Given the description of an element on the screen output the (x, y) to click on. 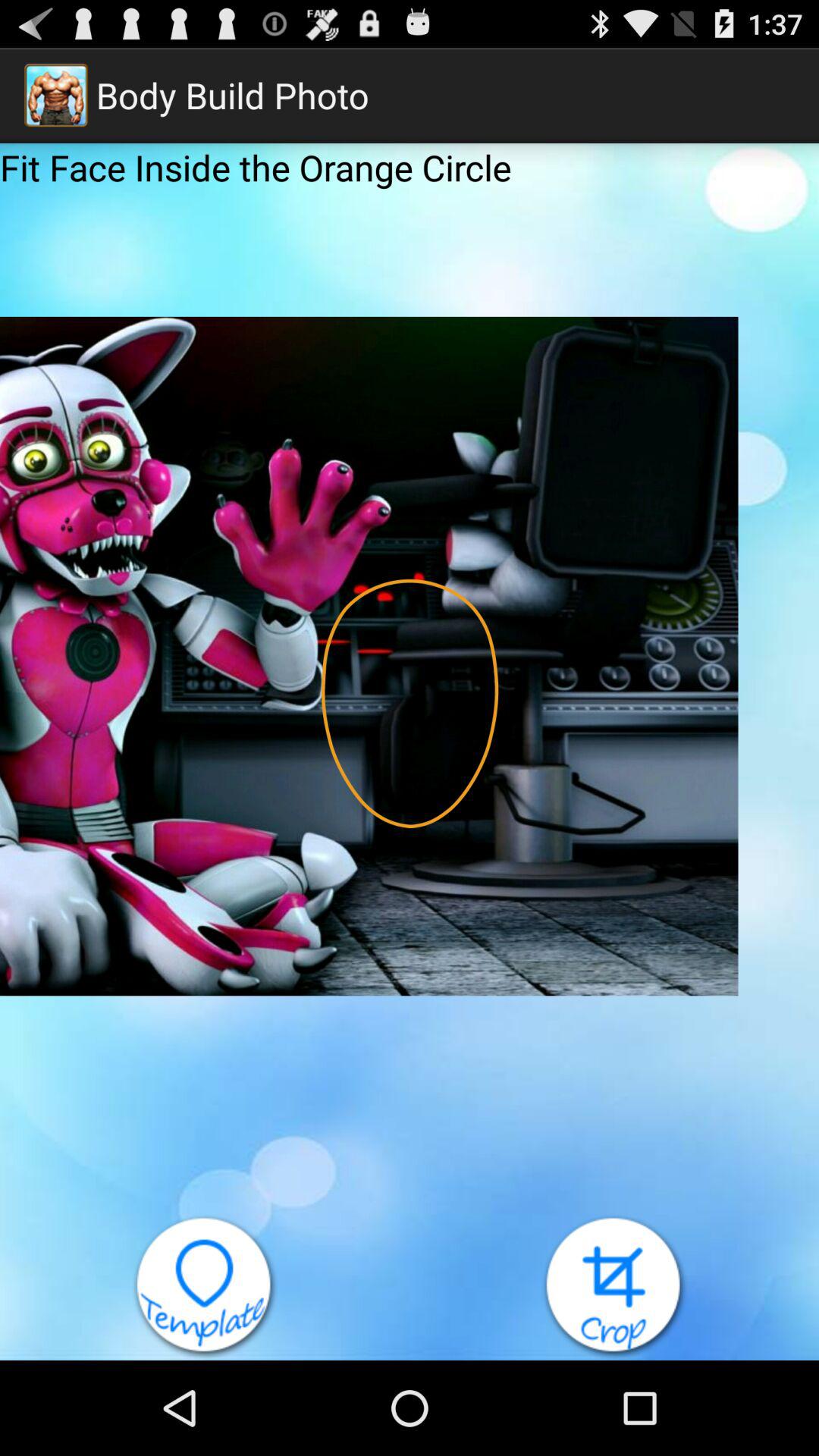
crop pic (614, 1287)
